Given the description of an element on the screen output the (x, y) to click on. 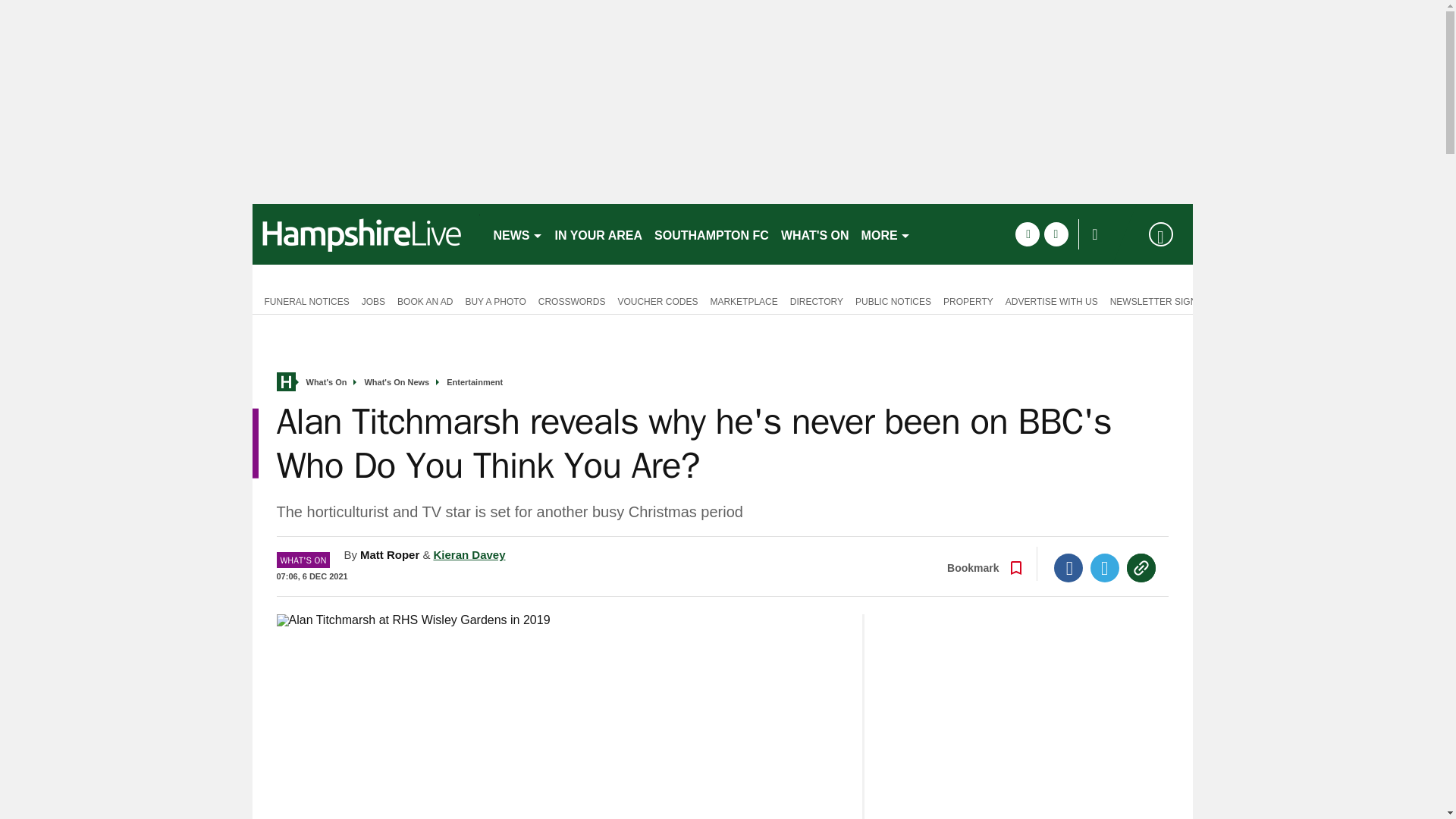
JOBS (373, 300)
Twitter (1104, 567)
BUY A PHOTO (494, 300)
hampshirelive (365, 233)
FUNERAL NOTICES (303, 300)
NEWSLETTER SIGNUP (1159, 300)
facebook (1026, 233)
Entertainment (474, 382)
twitter (1055, 233)
VOUCHER CODES (657, 300)
